Given the description of an element on the screen output the (x, y) to click on. 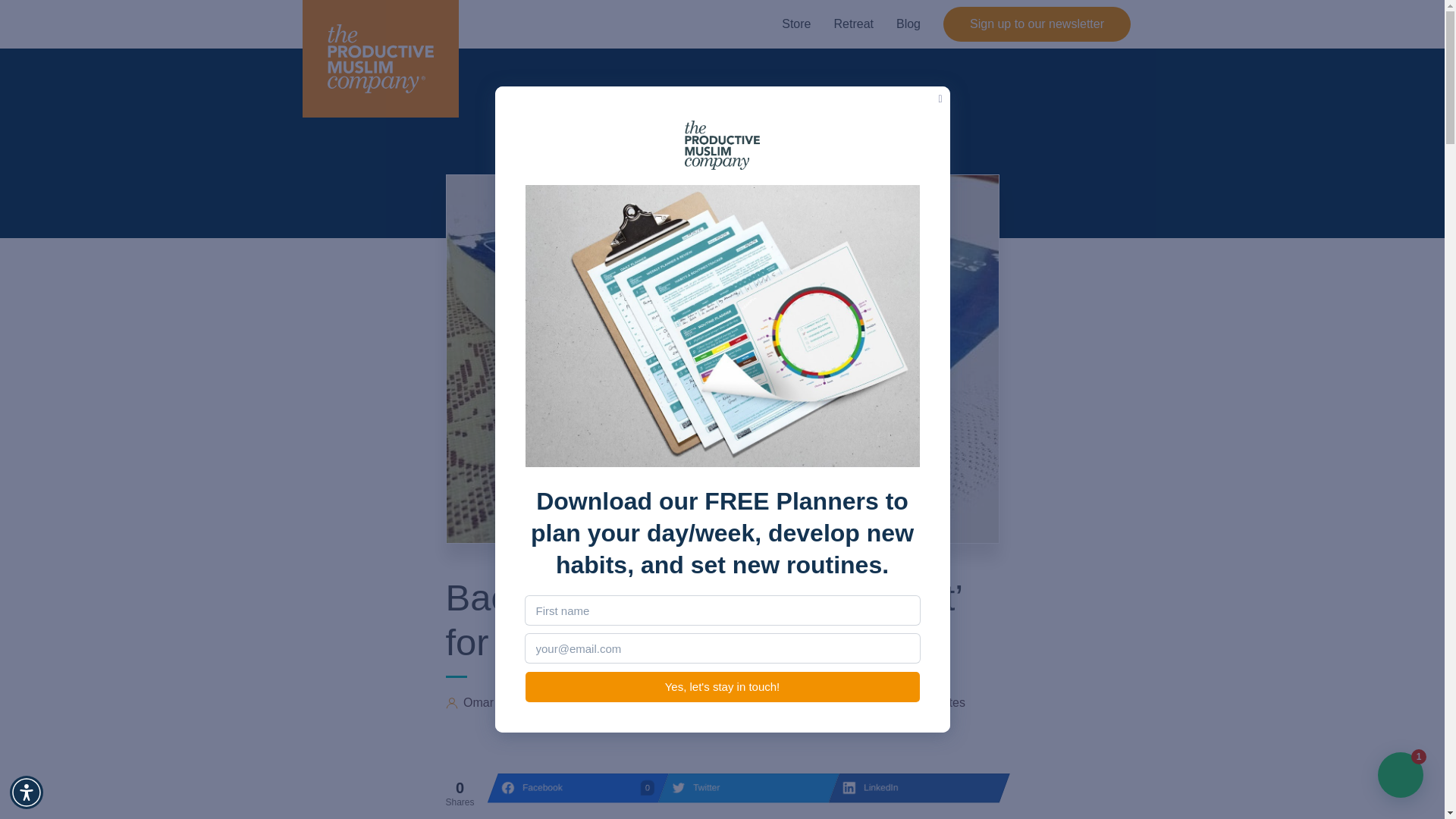
Spiritual Productivity (831, 703)
Blog (572, 787)
Twitter (908, 24)
Store (743, 787)
Sign up to our newsletter (796, 24)
Accessibility Menu (1037, 23)
Retreat (26, 792)
LinkedIn (852, 24)
Omar Usman (913, 787)
